Given the description of an element on the screen output the (x, y) to click on. 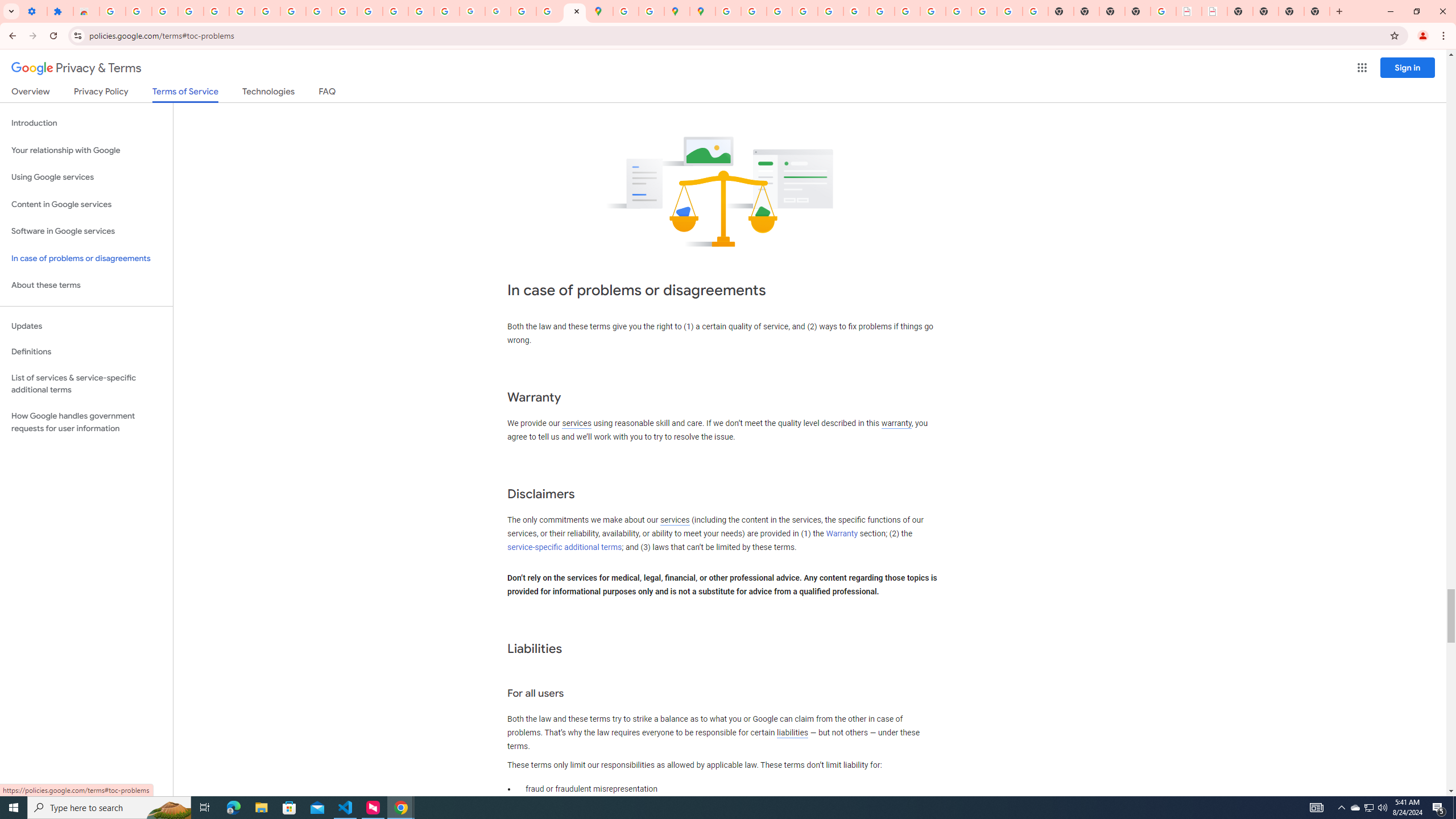
Sign in - Google Accounts (112, 11)
https://scholar.google.com/ (369, 11)
services (674, 520)
About these terms (86, 284)
New Tab (1316, 11)
